Given the description of an element on the screen output the (x, y) to click on. 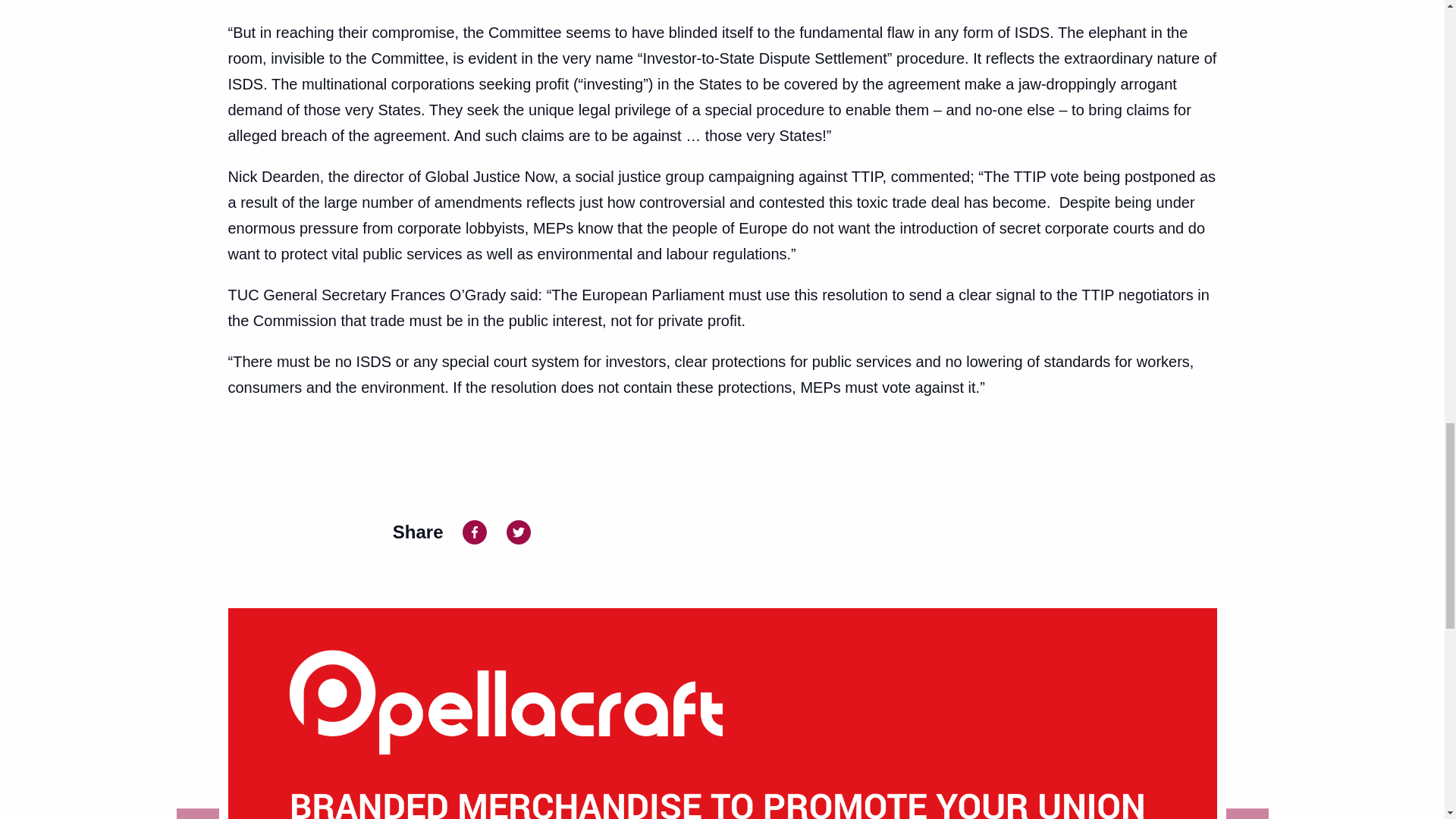
Share to Twitter (518, 530)
Share to Facebook (474, 530)
